Given the description of an element on the screen output the (x, y) to click on. 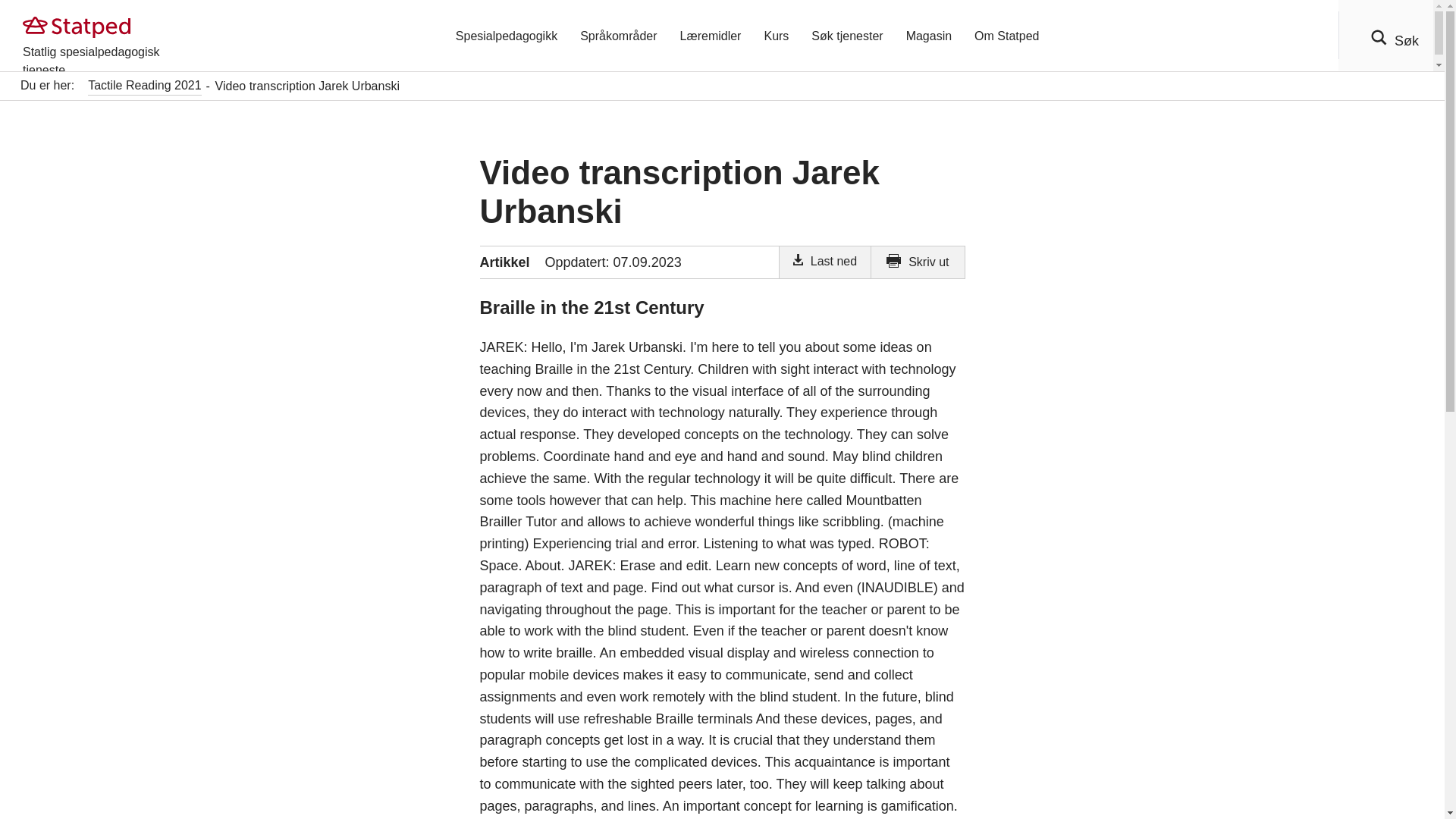
Last ned (824, 262)
Skriv ut (916, 262)
Tactile Reading 2021 (143, 85)
Om Statped (1006, 34)
Statlig spesialpedagogisk tjeneste (114, 35)
Magasin (928, 34)
Kurs (775, 34)
Spesialpedagogikk (506, 34)
